Given the description of an element on the screen output the (x, y) to click on. 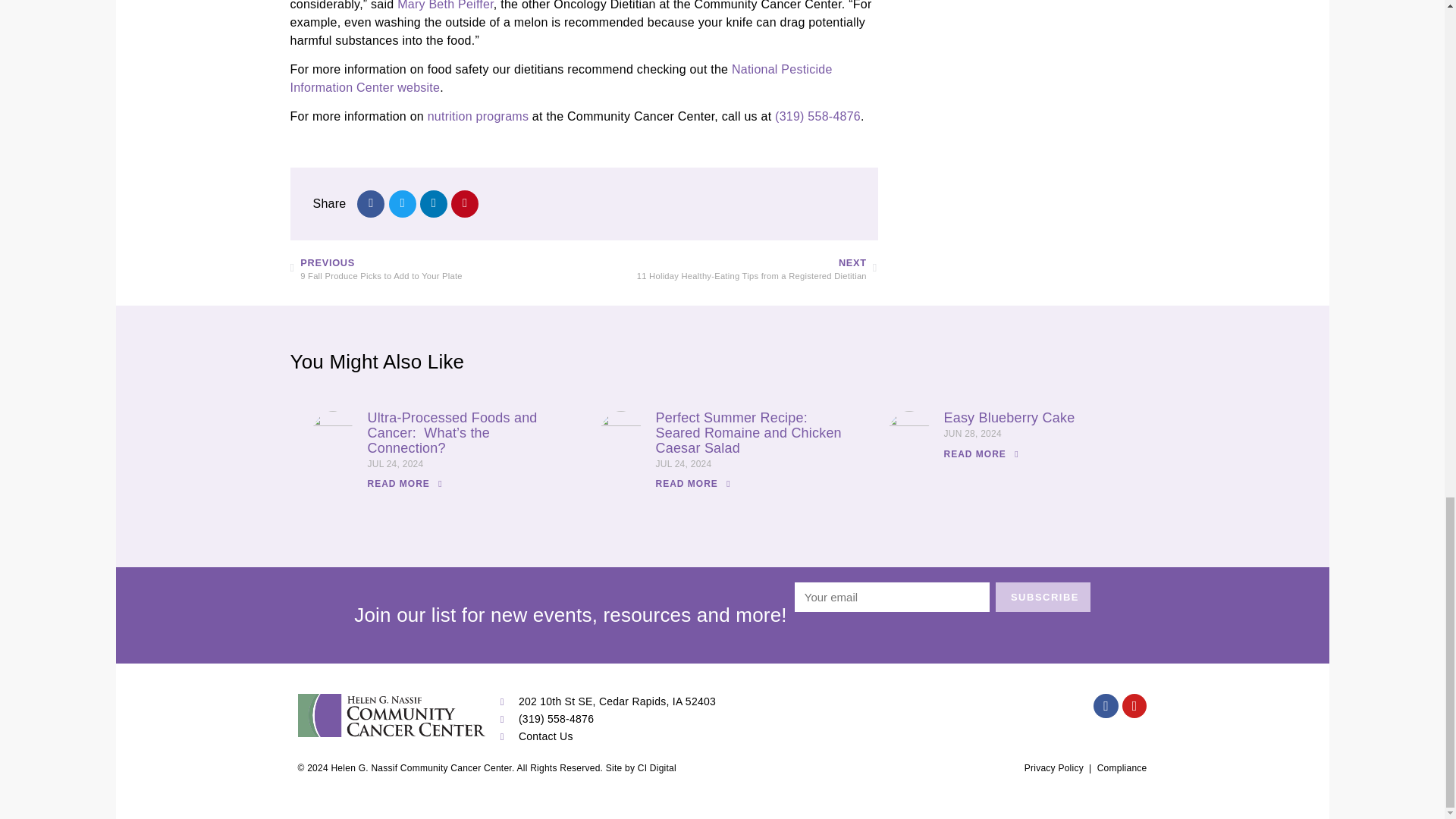
Subscribe (1042, 597)
